Given the description of an element on the screen output the (x, y) to click on. 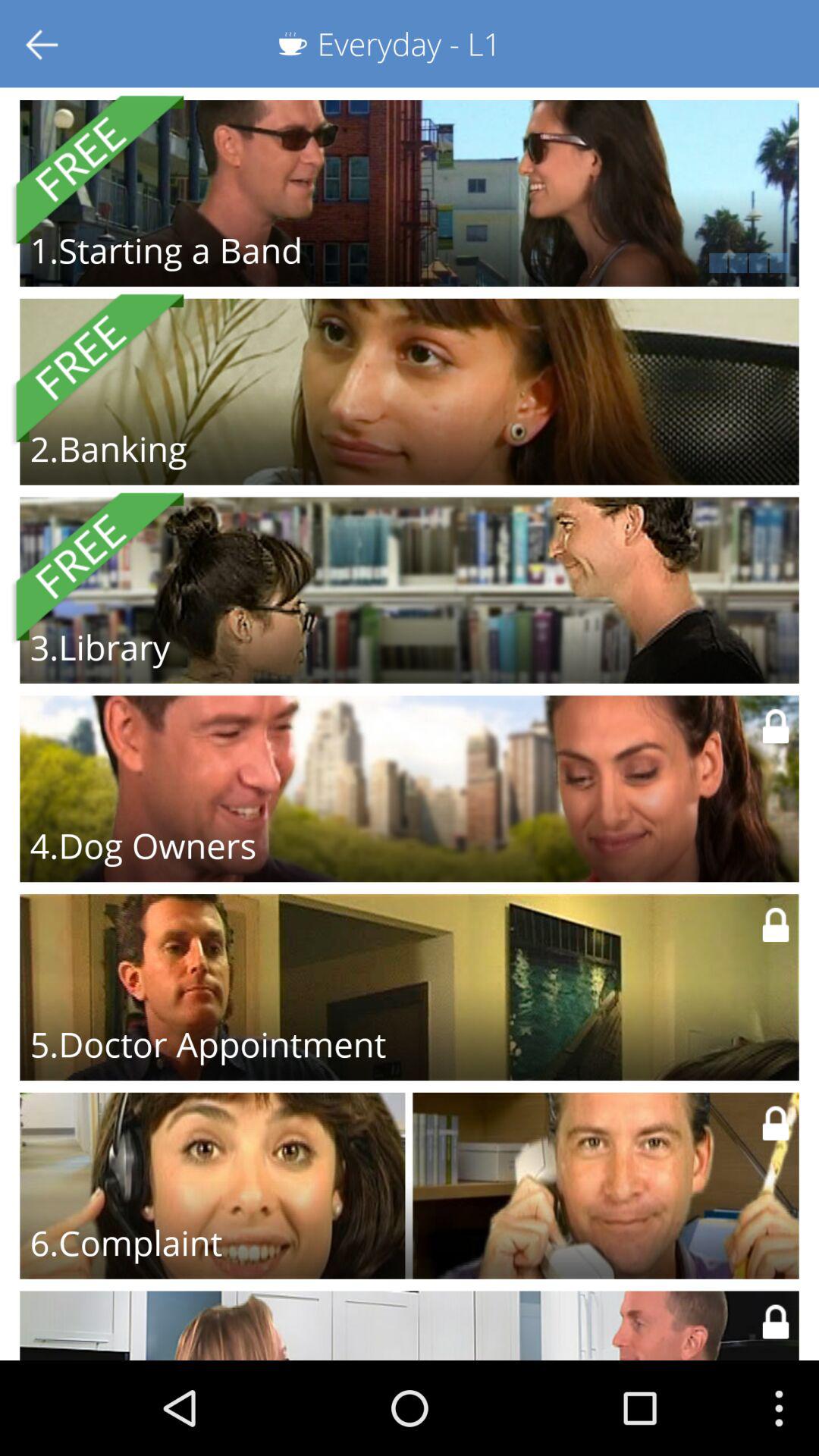
scroll until the 3.library (100, 646)
